Given the description of an element on the screen output the (x, y) to click on. 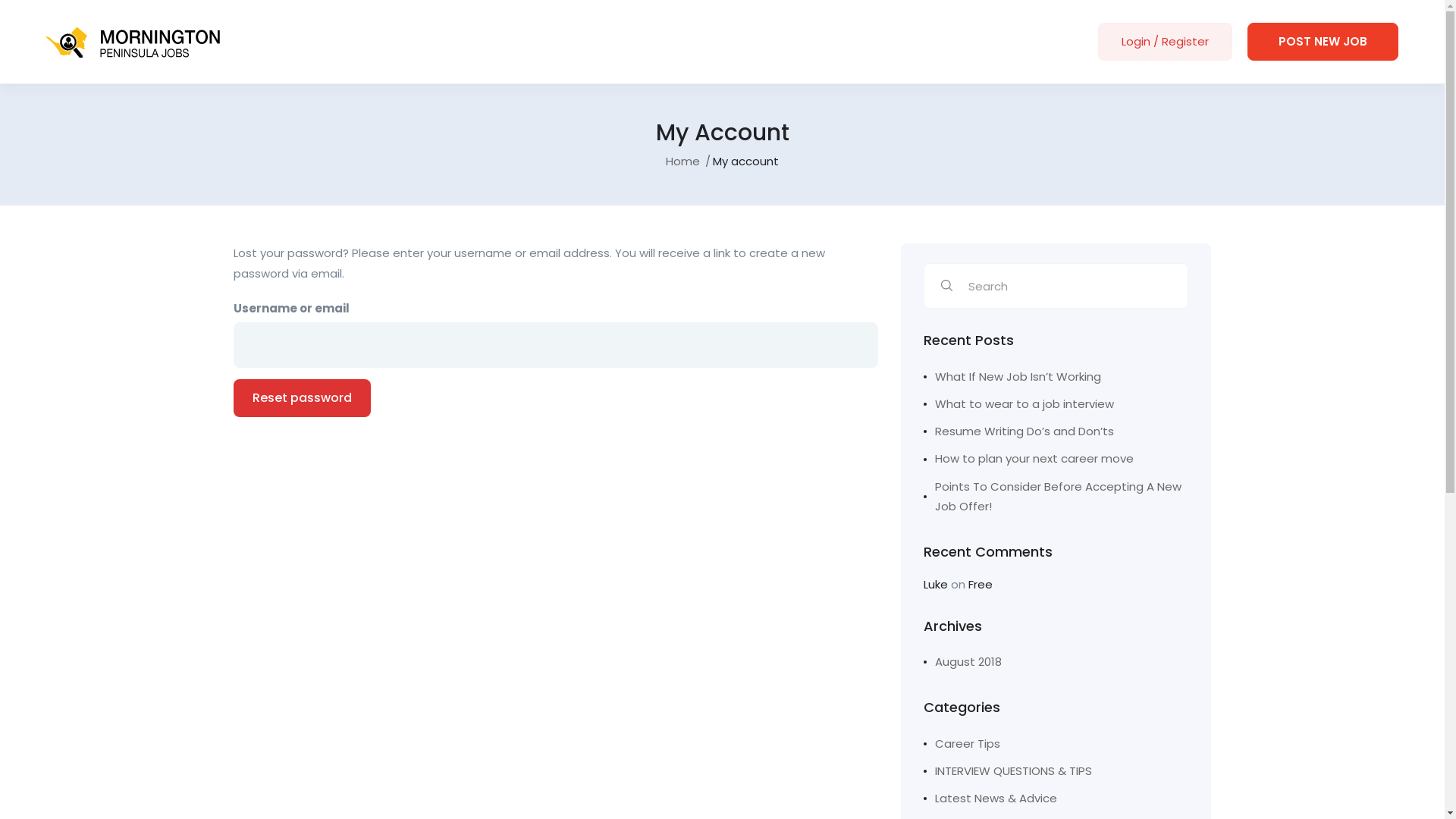
Login / Register Element type: text (1165, 41)
Reset password Element type: text (301, 398)
Luke Element type: text (935, 584)
Career Tips Element type: text (961, 743)
Home Element type: text (682, 161)
How to plan your next career move Element type: text (1056, 458)
Free Element type: text (979, 584)
POST NEW JOB Element type: text (1322, 41)
August 2018 Element type: text (962, 661)
INTERVIEW QUESTIONS & TIPS Element type: text (1007, 770)
What to wear to a job interview Element type: text (1056, 403)
Latest News & Advice Element type: text (990, 798)
Points To Consider Before Accepting A New Job Offer! Element type: text (1056, 496)
